Given the description of an element on the screen output the (x, y) to click on. 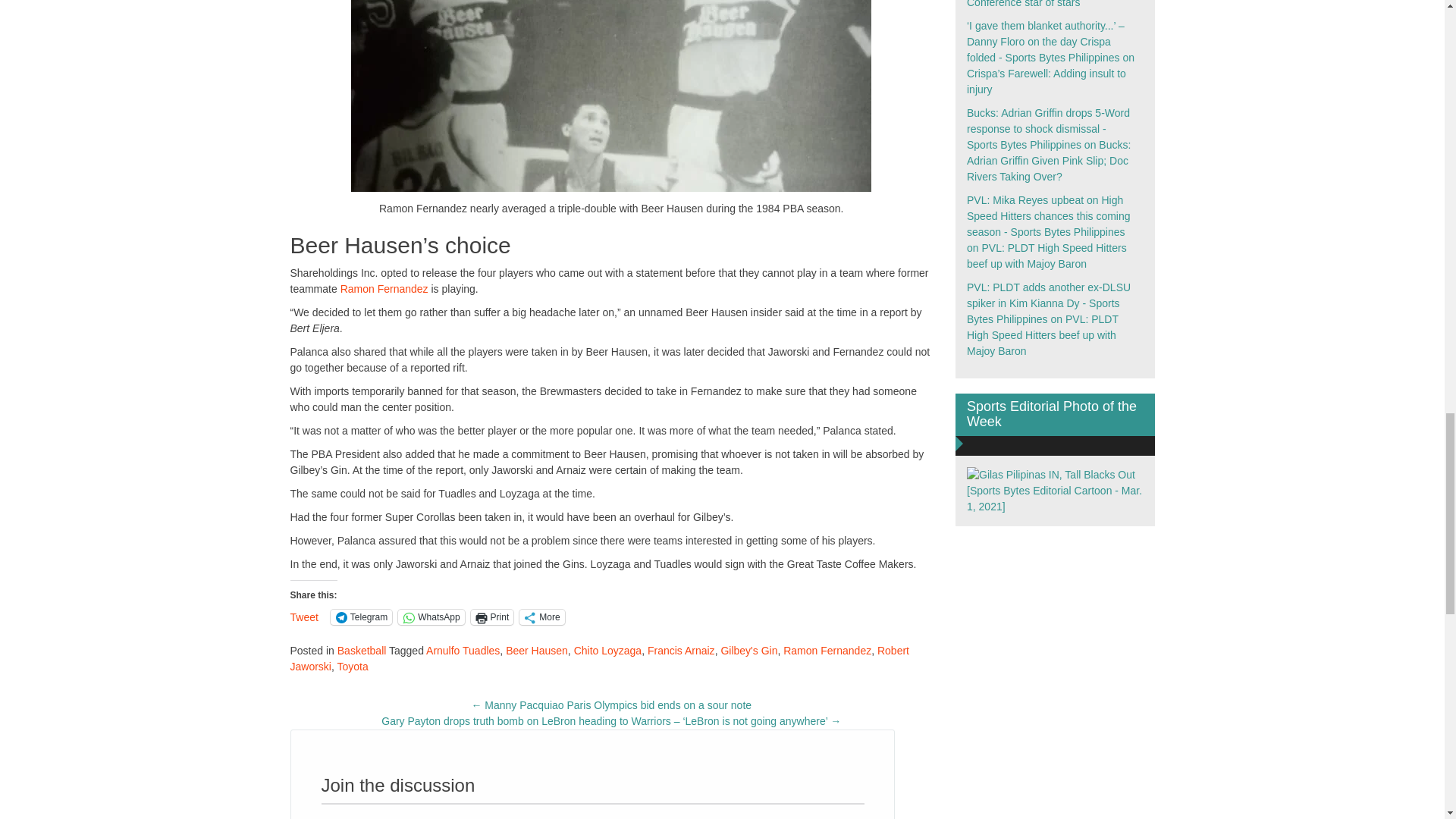
Click to print (491, 616)
Comment Form (592, 811)
Click to share on Telegram (360, 616)
Click to share on WhatsApp (430, 616)
